Given the description of an element on the screen output the (x, y) to click on. 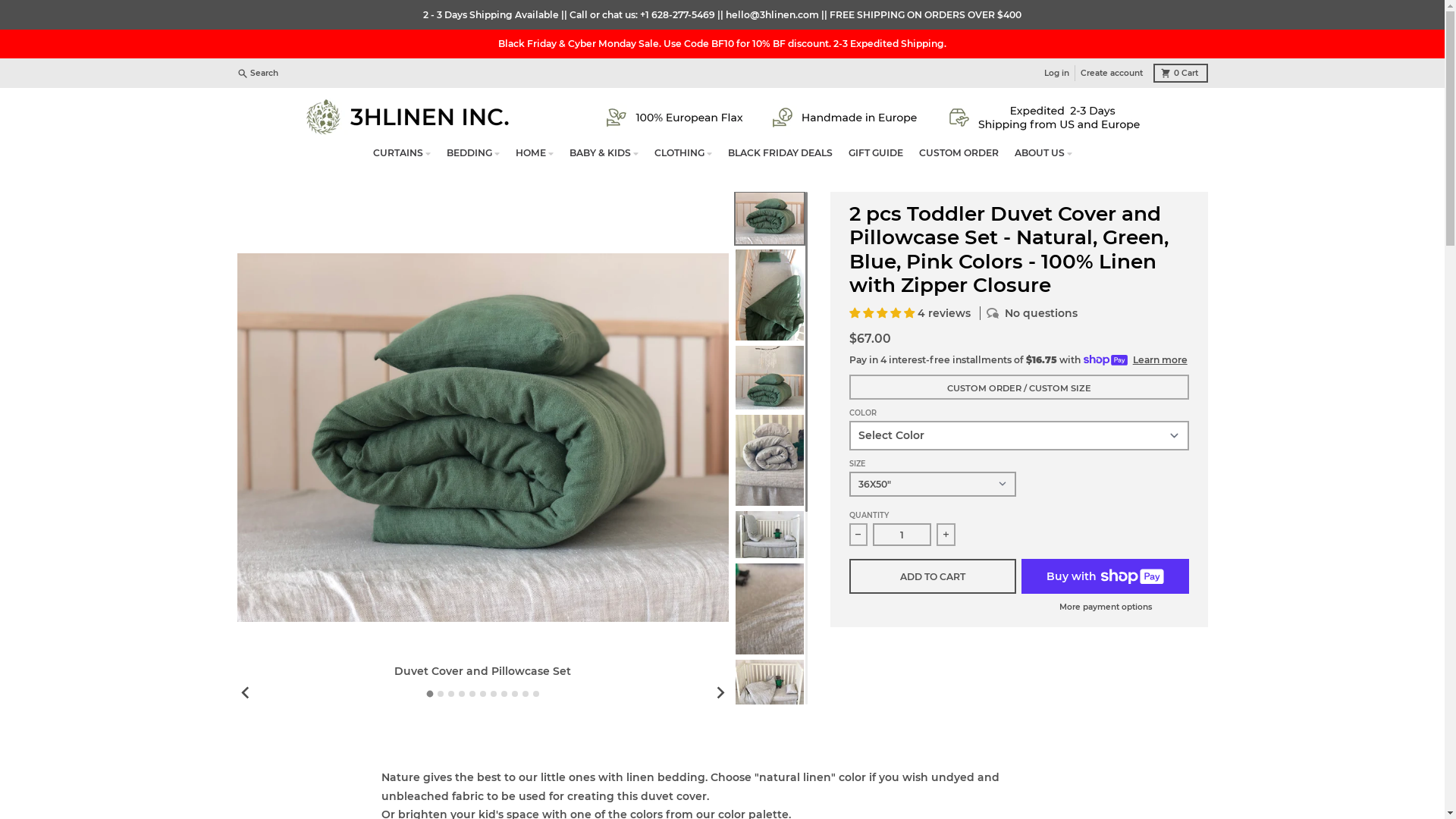
Create account Element type: text (1111, 73)
ADD TO CART Element type: text (932, 575)
0
Cart Element type: text (1180, 72)
Skip to product information Element type: text (236, 191)
More payment options Element type: text (1105, 607)
Log in Element type: text (1056, 73)
CUSTOM ORDER / CUSTOM SIZE Element type: text (1019, 386)
CUSTOM ORDER Element type: text (958, 153)
BLACK FRIDAY DEALS Element type: text (779, 153)
GIFT GUIDE Element type: text (875, 153)
Search Element type: text (259, 73)
